Given the description of an element on the screen output the (x, y) to click on. 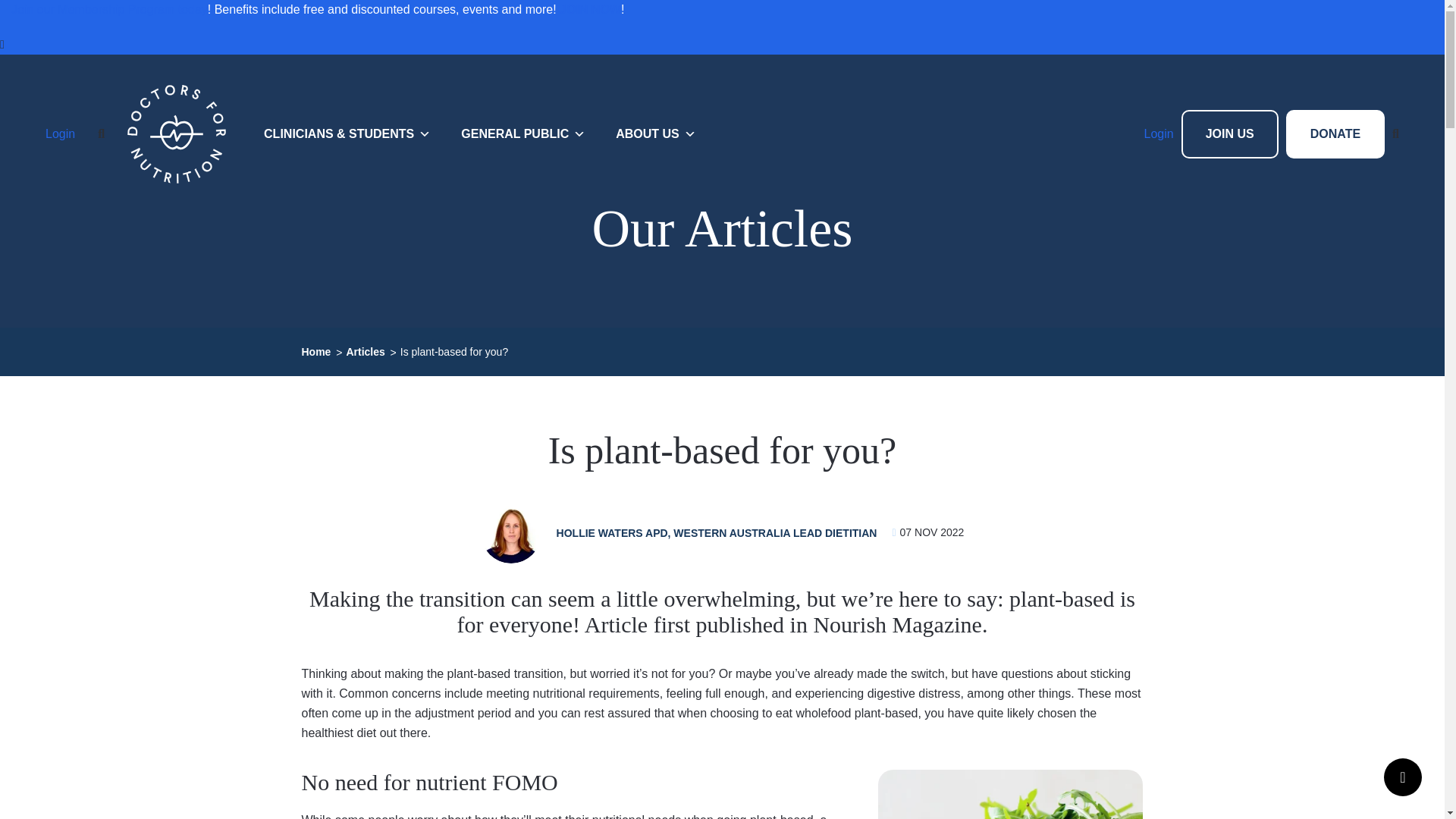
Login (60, 134)
JOIN NOW (590, 9)
GENERAL PUBLIC (522, 133)
Healthy jar (1009, 794)
Join our Membership Program today (109, 9)
